Given the description of an element on the screen output the (x, y) to click on. 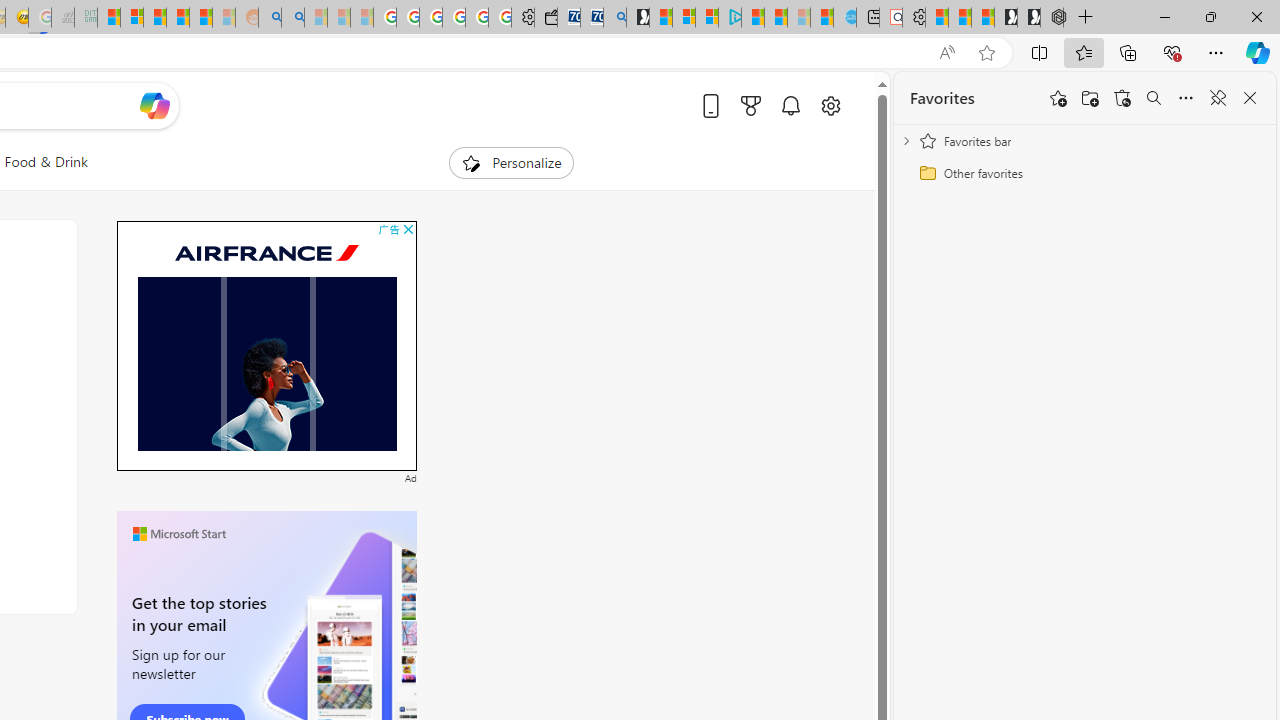
Home | Sky Blue Bikes - Sky Blue Bikes (845, 17)
AutomationID: cbb (408, 228)
